Given the description of an element on the screen output the (x, y) to click on. 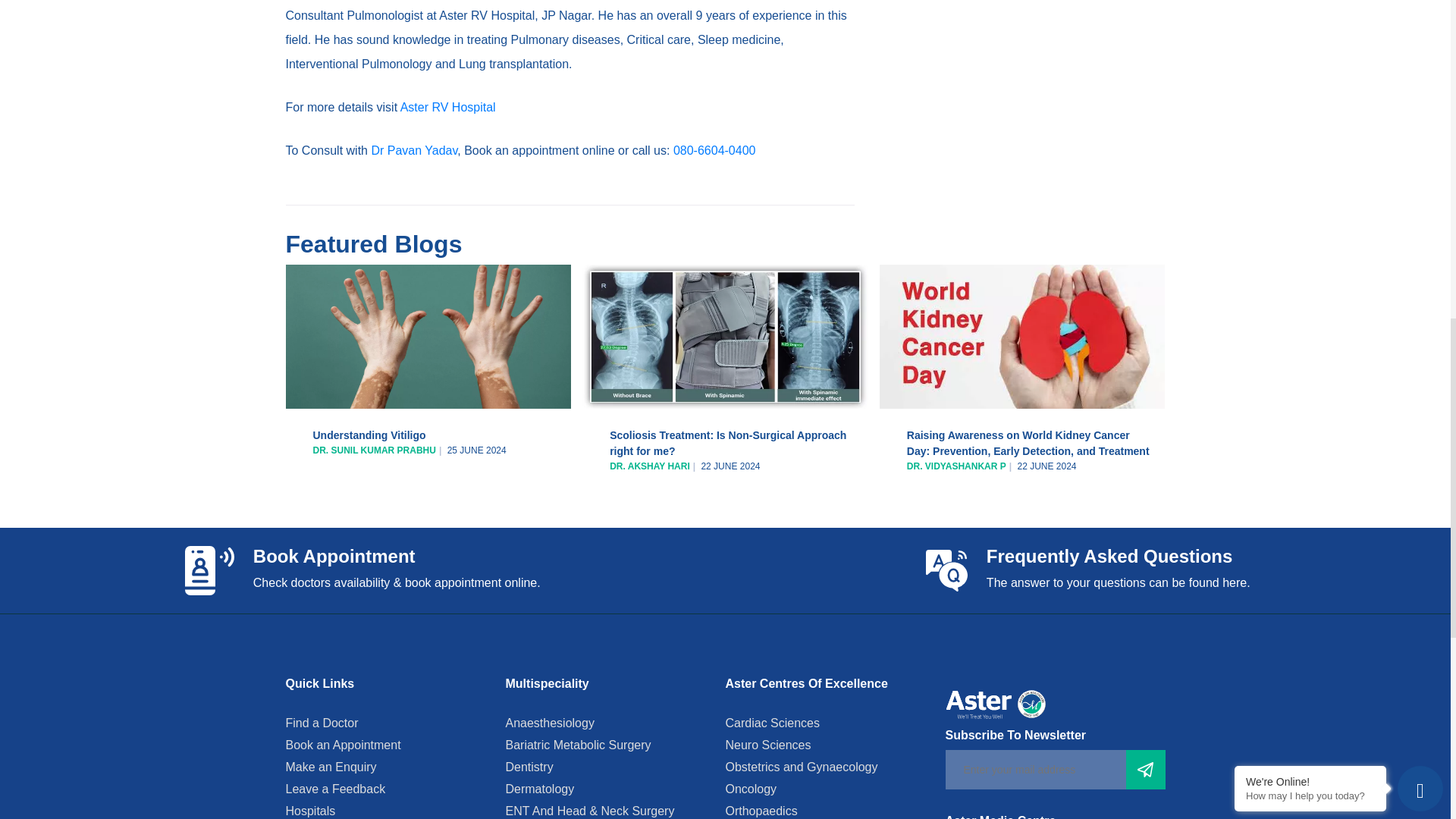
Submit (1144, 769)
